Given the description of an element on the screen output the (x, y) to click on. 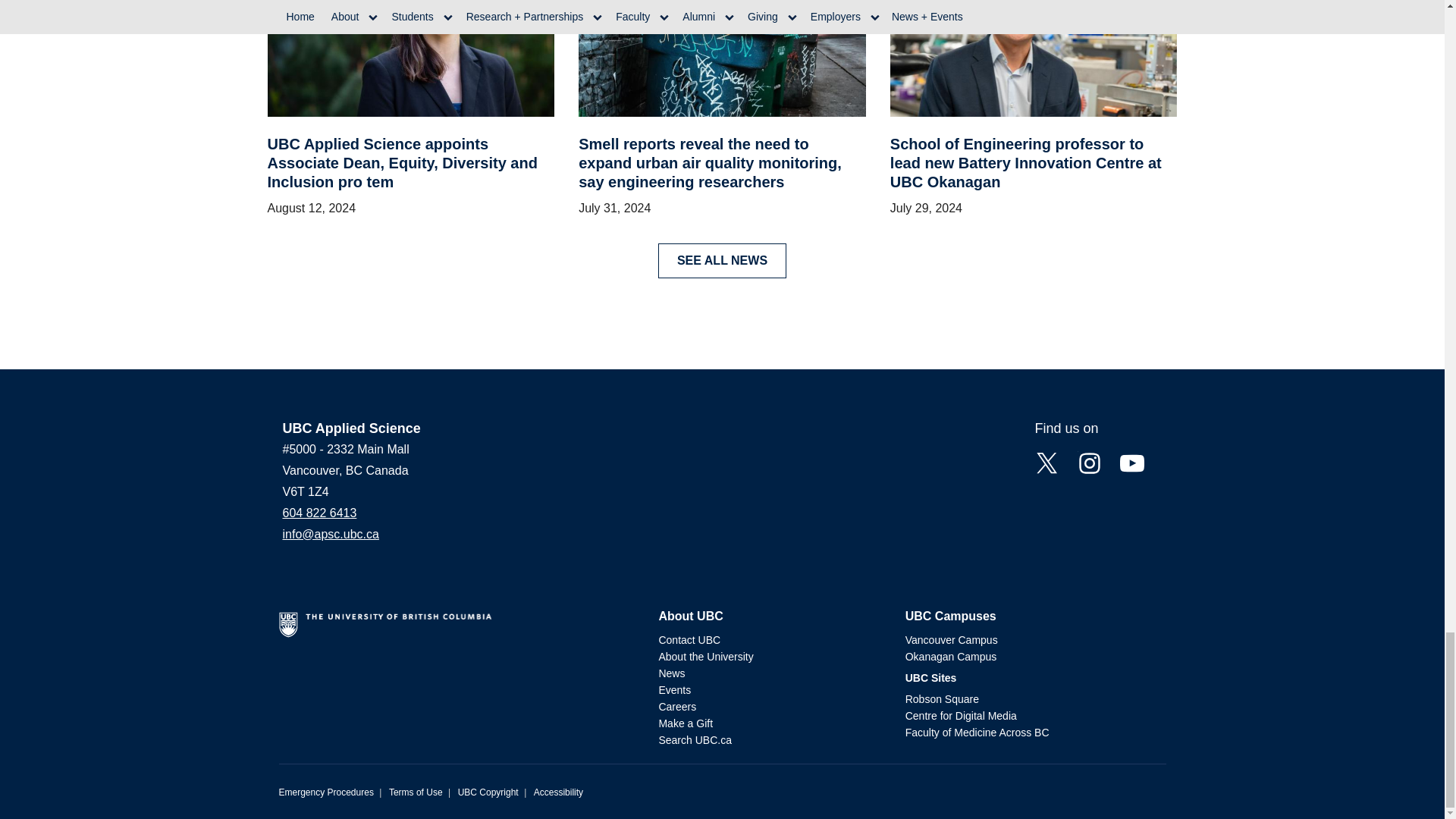
Email UBC Applied Science (330, 533)
Follow us on Twitter (1045, 461)
Watch us on Youtube (1130, 461)
See us on Instagram (1088, 461)
